Given the description of an element on the screen output the (x, y) to click on. 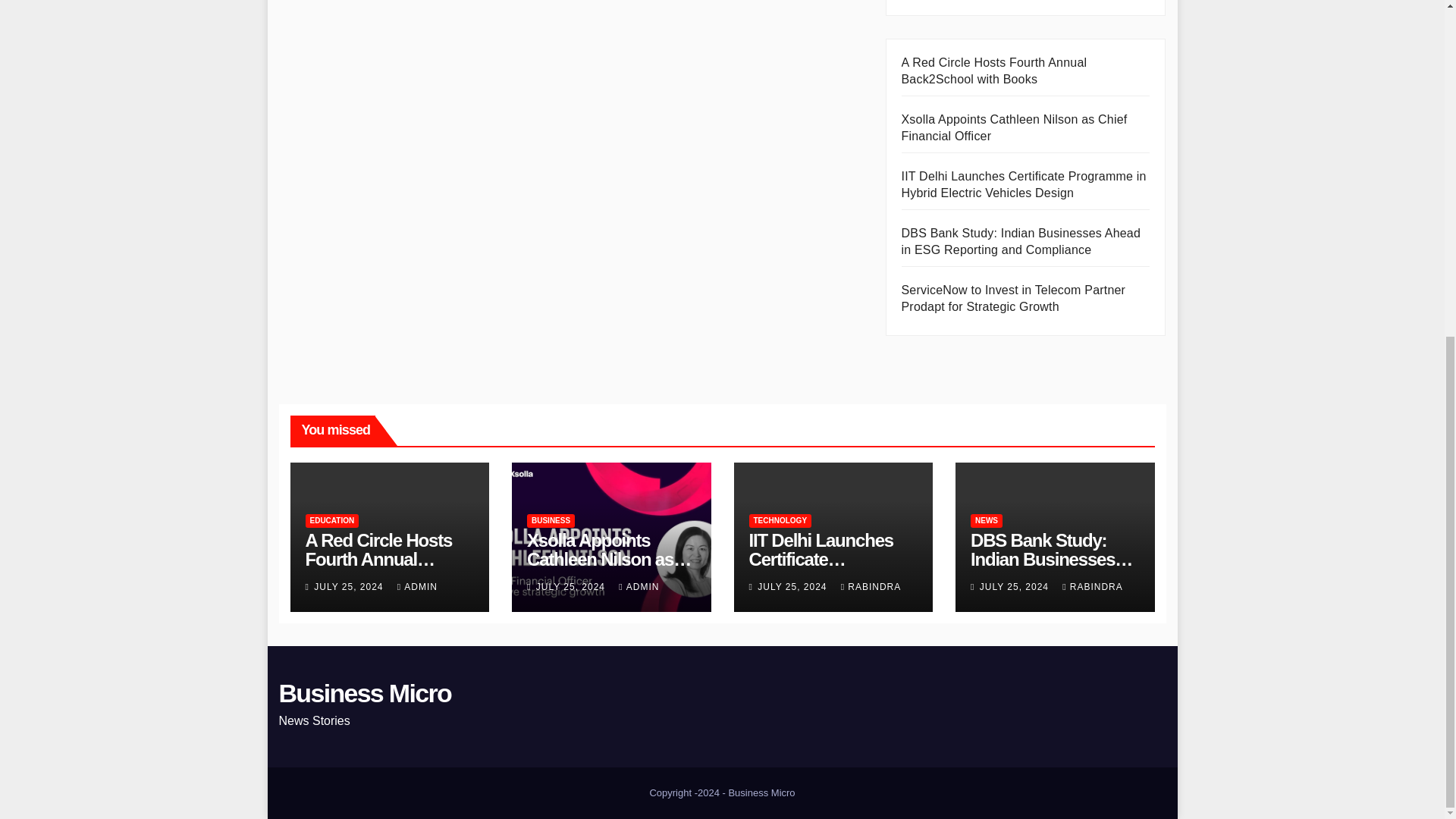
Xsolla Appoints Cathleen Nilson as Chief Financial Officer (1013, 127)
A Red Circle Hosts Fourth Annual Back2School with Books (993, 70)
